Given the description of an element on the screen output the (x, y) to click on. 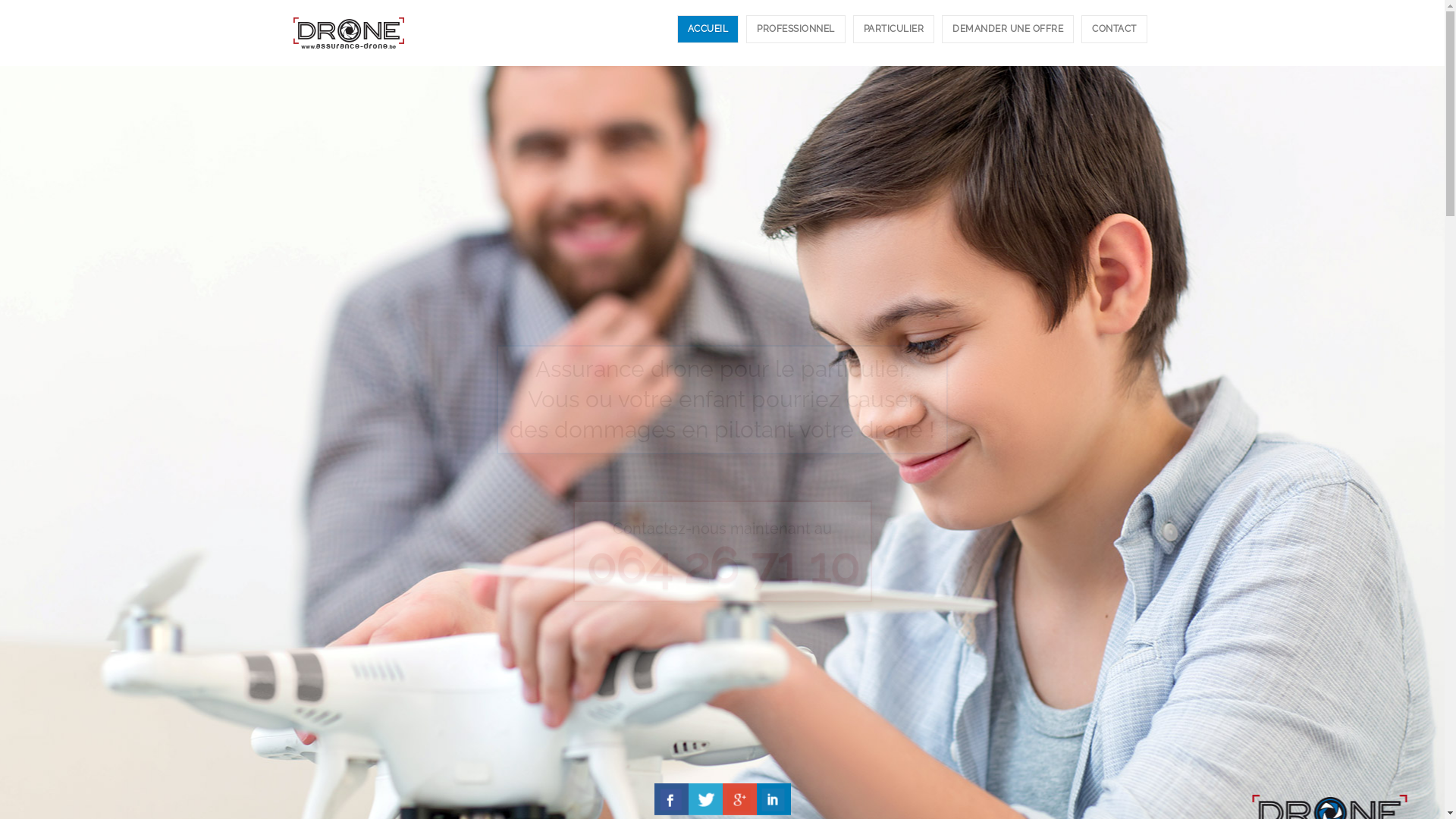
PROFESSIONNEL Element type: text (795, 29)
Partager sur Linkedin Element type: hover (773, 799)
DEMANDER UNE OFFRE Element type: text (1007, 29)
Partager sur Twitter Element type: hover (705, 799)
PARTICULIER Element type: text (893, 29)
Partager sur Google Plus Element type: hover (738, 799)
CONTACT Element type: text (1114, 29)
ACCUEIL Element type: text (707, 29)
Partager sur Facebook Element type: hover (670, 799)
